Given the description of an element on the screen output the (x, y) to click on. 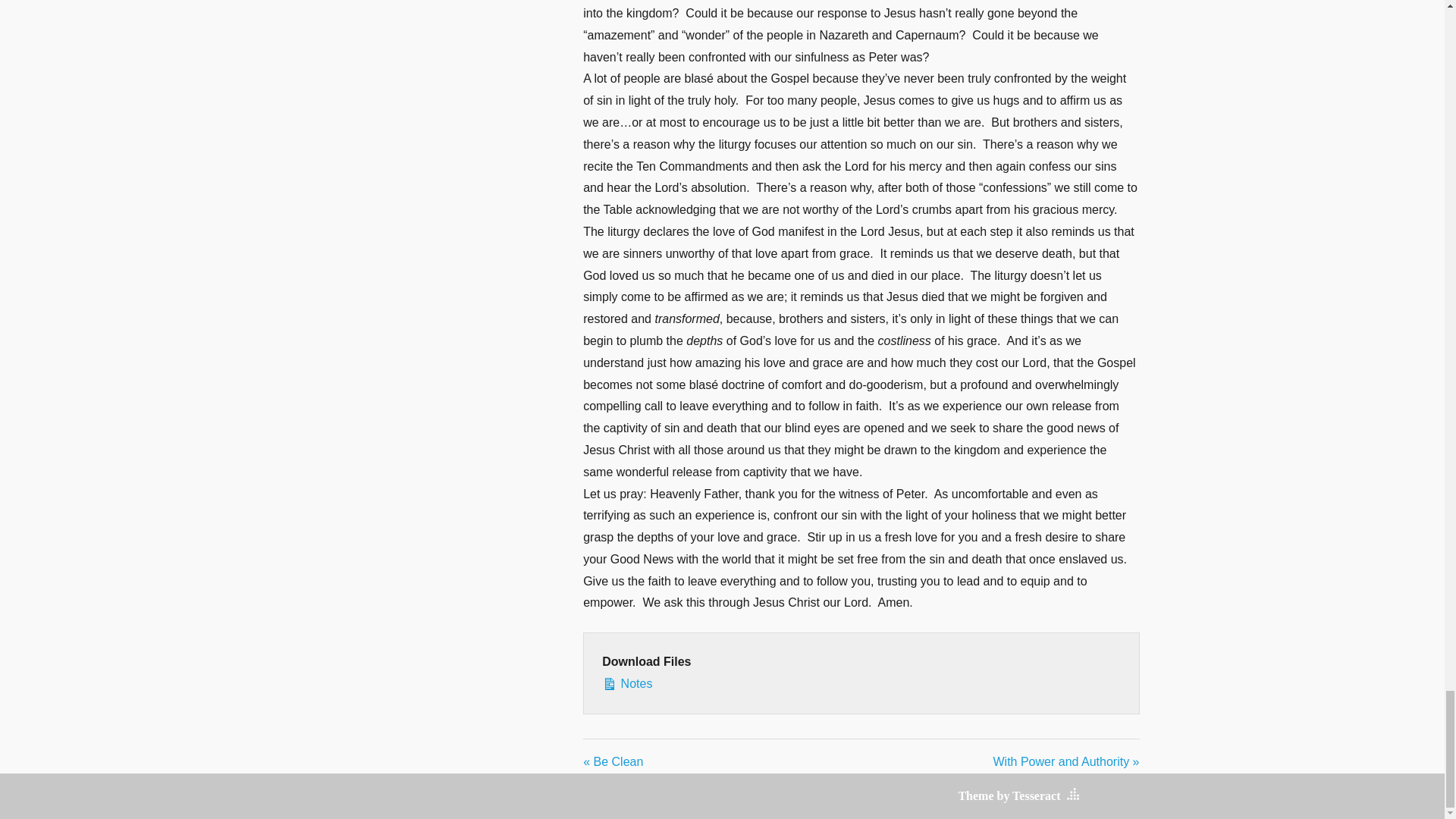
Notes (860, 684)
Theme by Tesseract (1008, 795)
